Given the description of an element on the screen output the (x, y) to click on. 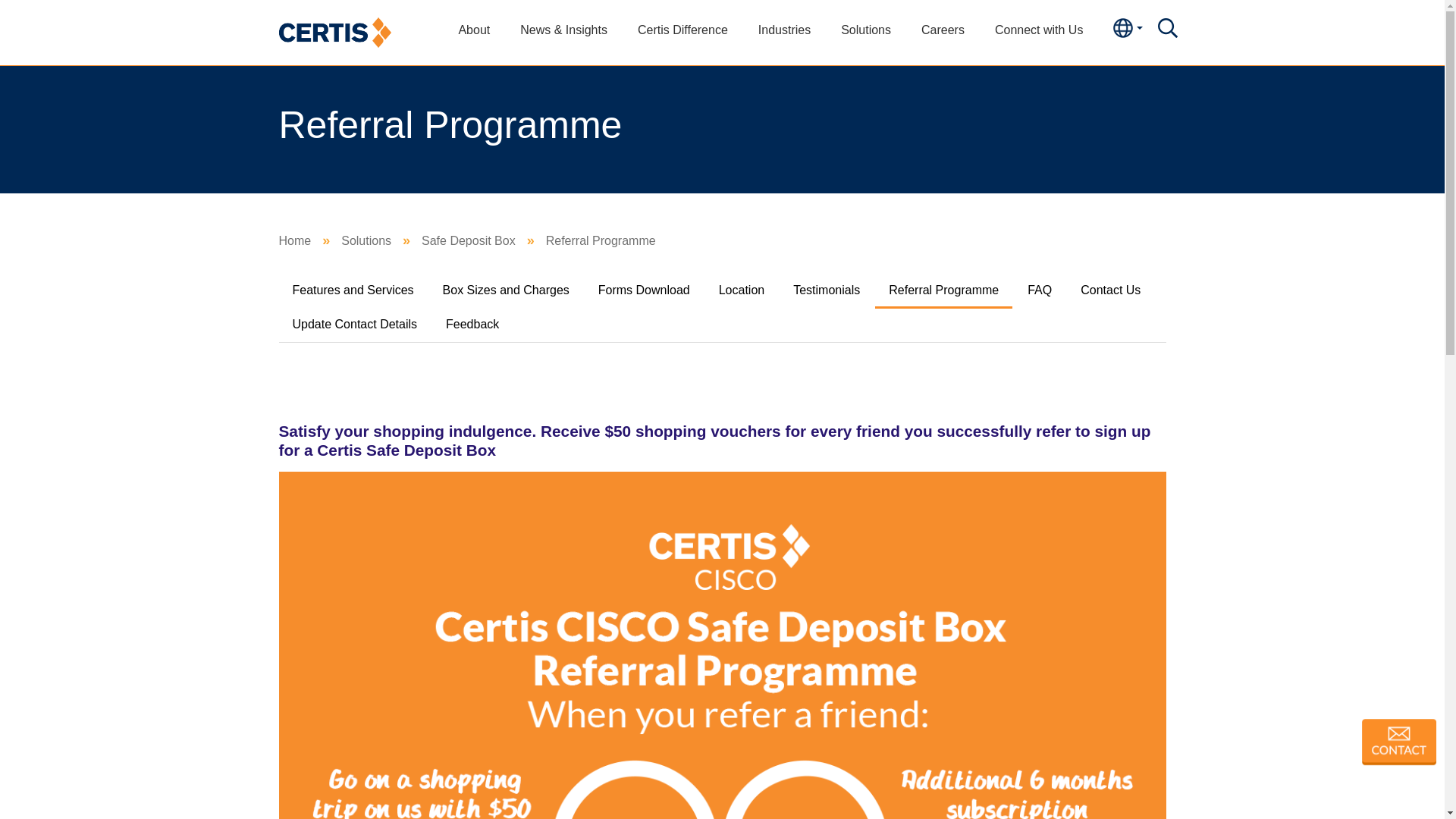
Solutions (865, 30)
Certis Group (335, 31)
Certis Difference (682, 30)
Connect with Us (1039, 30)
About (473, 30)
Industries (783, 30)
Careers (942, 30)
